Given the description of an element on the screen output the (x, y) to click on. 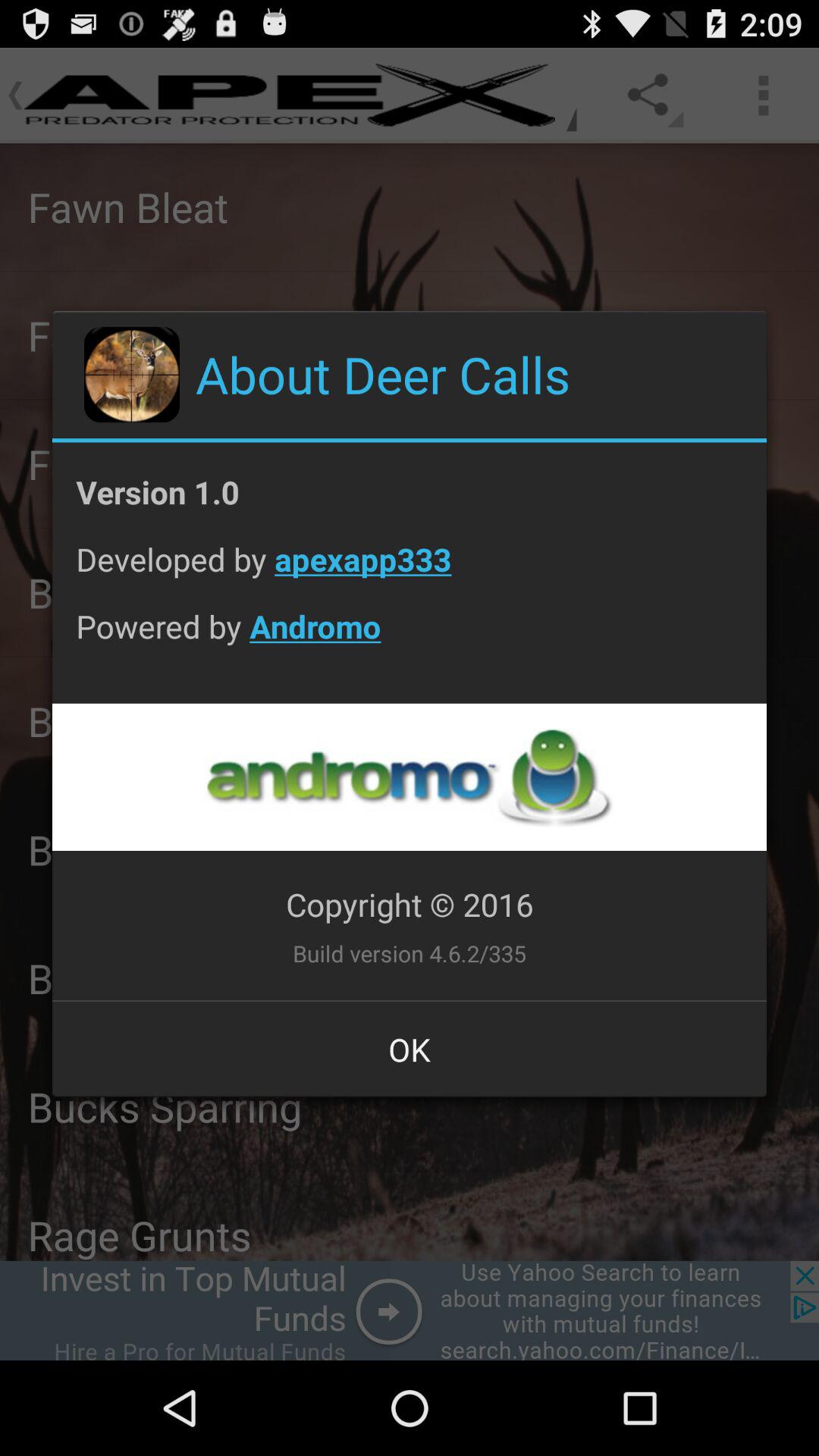
open the app above powered by andromo (409, 570)
